Given the description of an element on the screen output the (x, y) to click on. 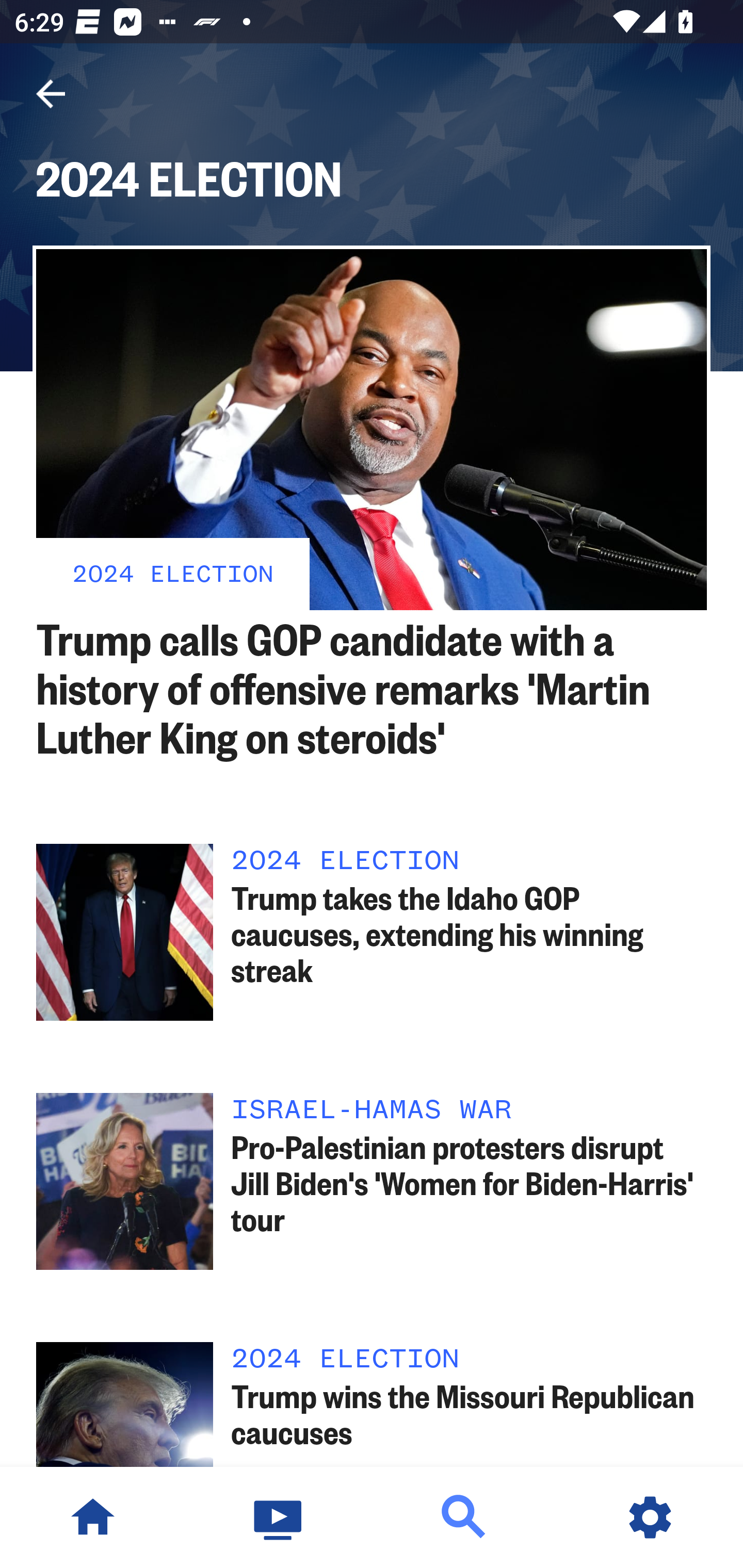
Navigate up (50, 93)
NBC News Home (92, 1517)
Watch (278, 1517)
Settings (650, 1517)
